Given the description of an element on the screen output the (x, y) to click on. 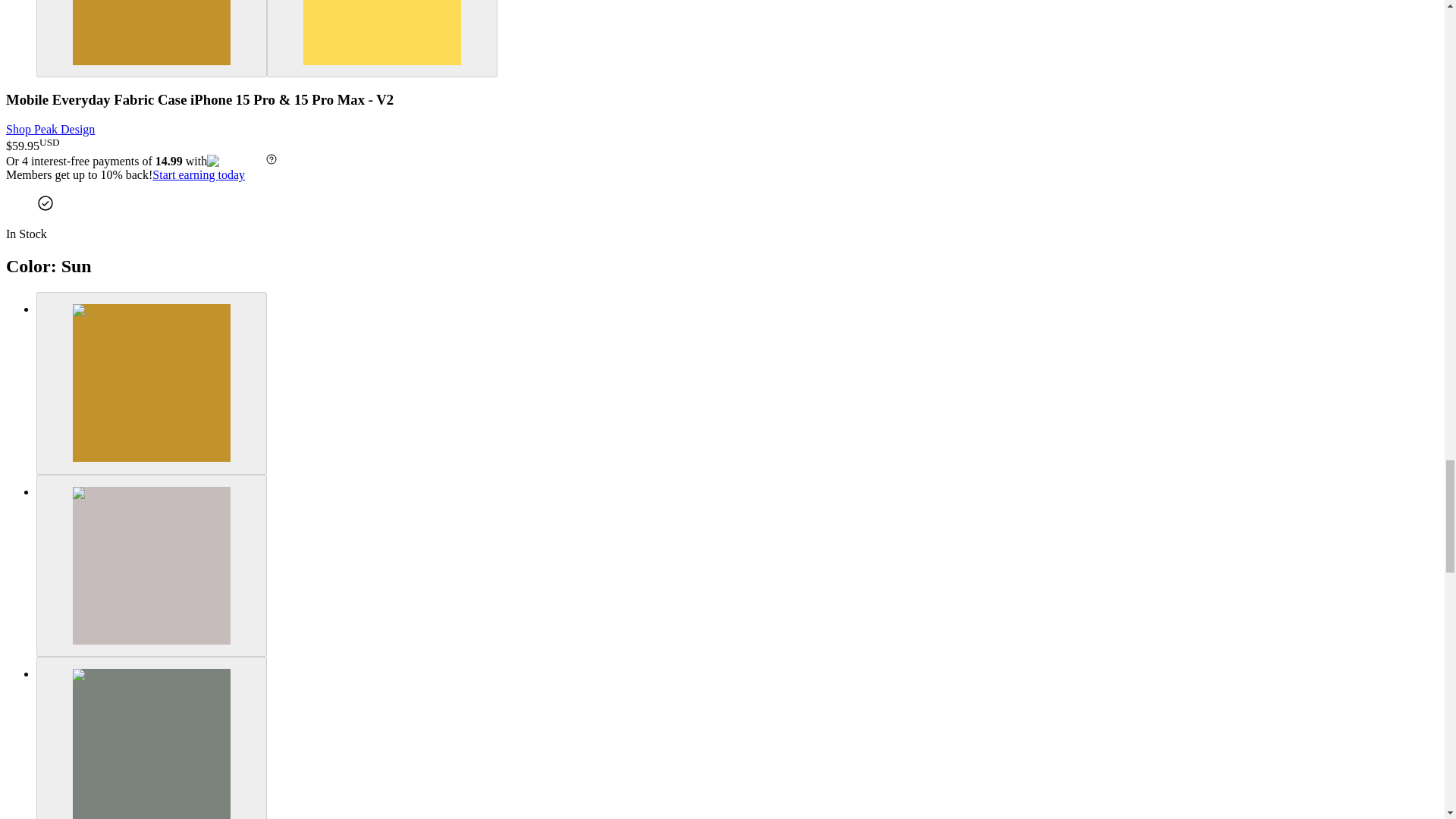
Shop Peak Design (49, 128)
Slide 1 (151, 38)
Slide 2 (381, 38)
Start earning today (198, 174)
